Given the description of an element on the screen output the (x, y) to click on. 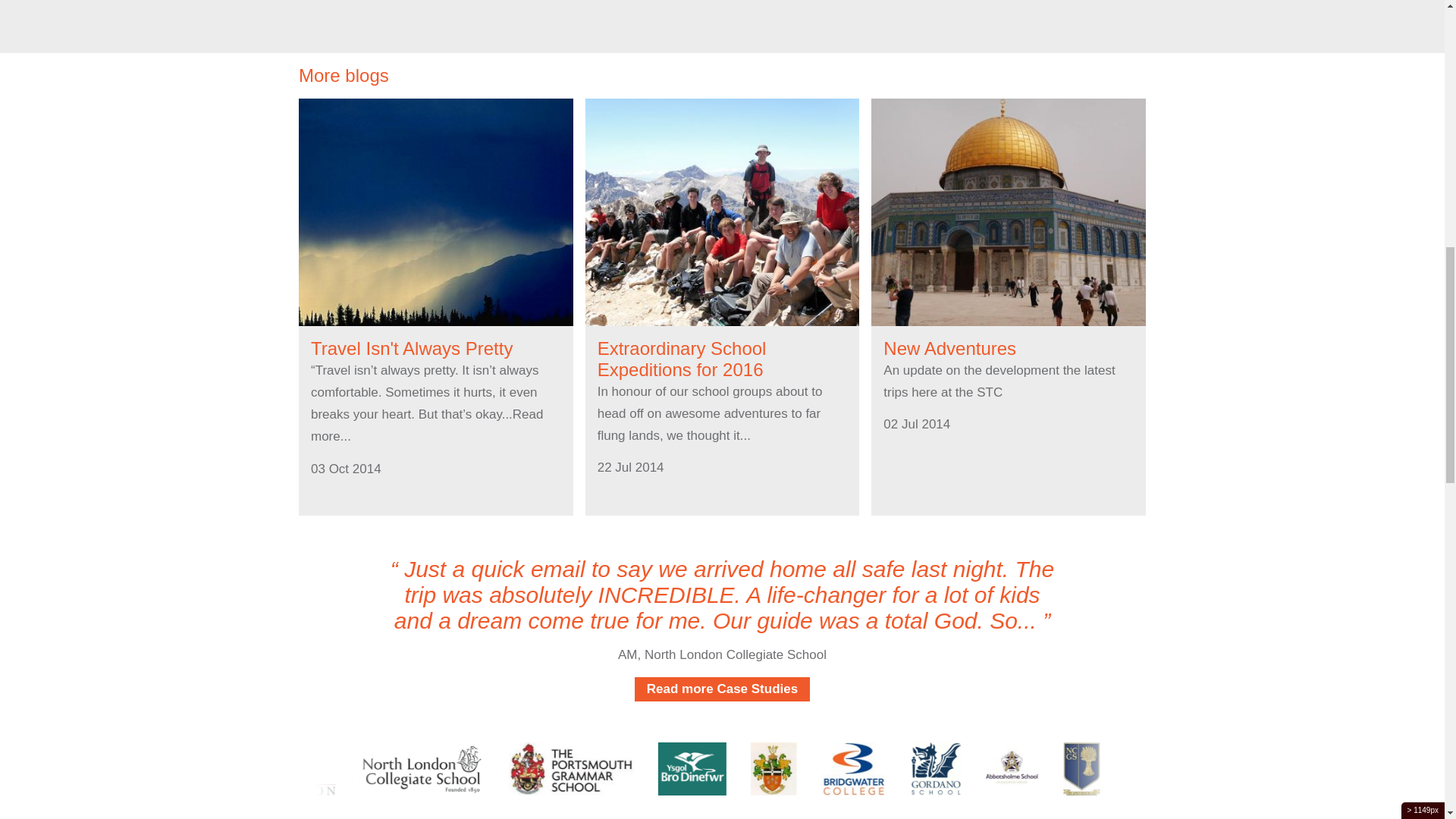
Posted on 02 July 2014 (916, 423)
Posted on 22 July 2014 (629, 467)
Posted on 03 October 2014 (346, 468)
